Given the description of an element on the screen output the (x, y) to click on. 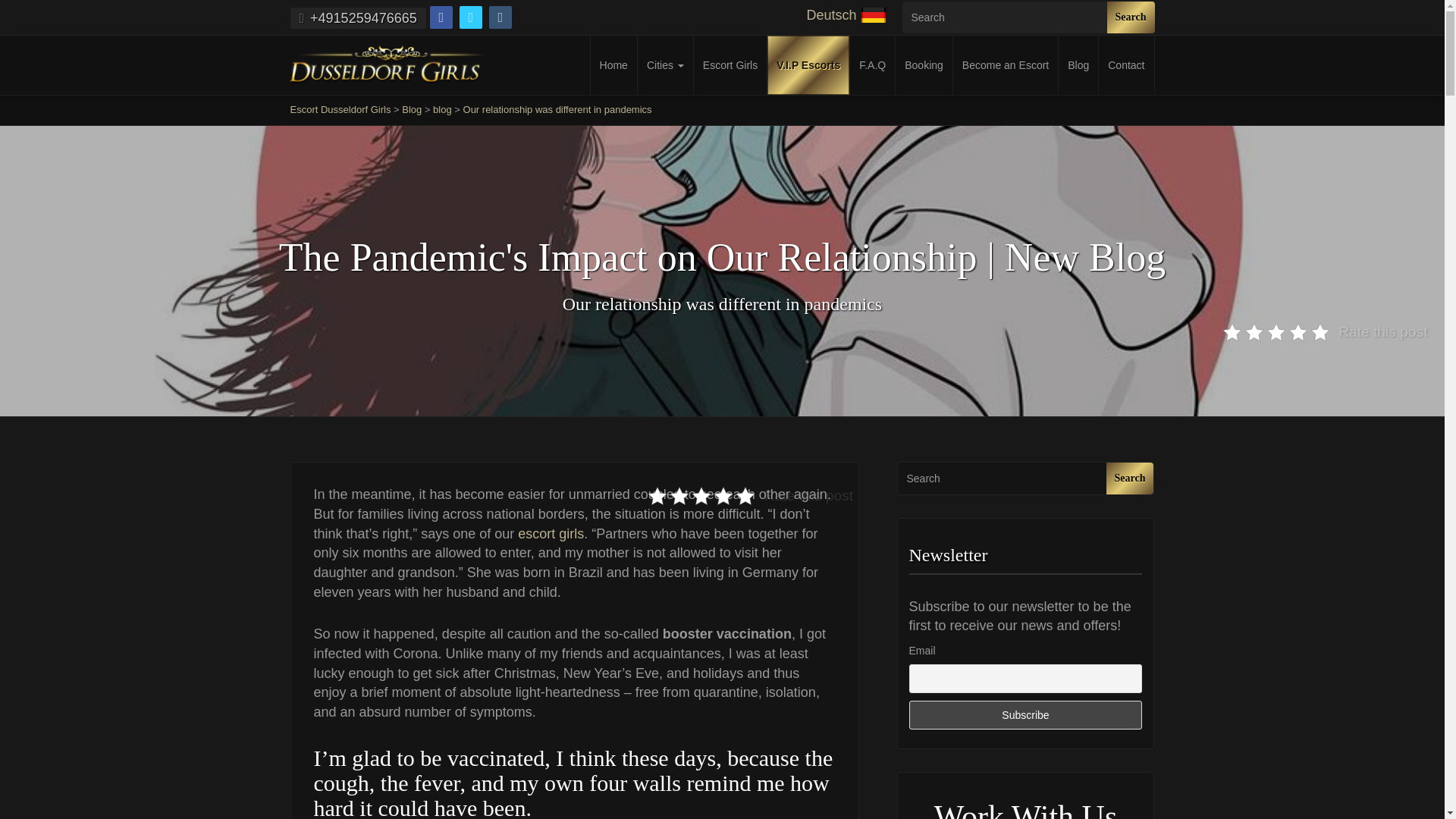
Cities (665, 65)
Cities (665, 65)
Subscribe (1024, 715)
Deutsch (845, 14)
Search (1130, 17)
Deutsch (845, 14)
